Given the description of an element on the screen output the (x, y) to click on. 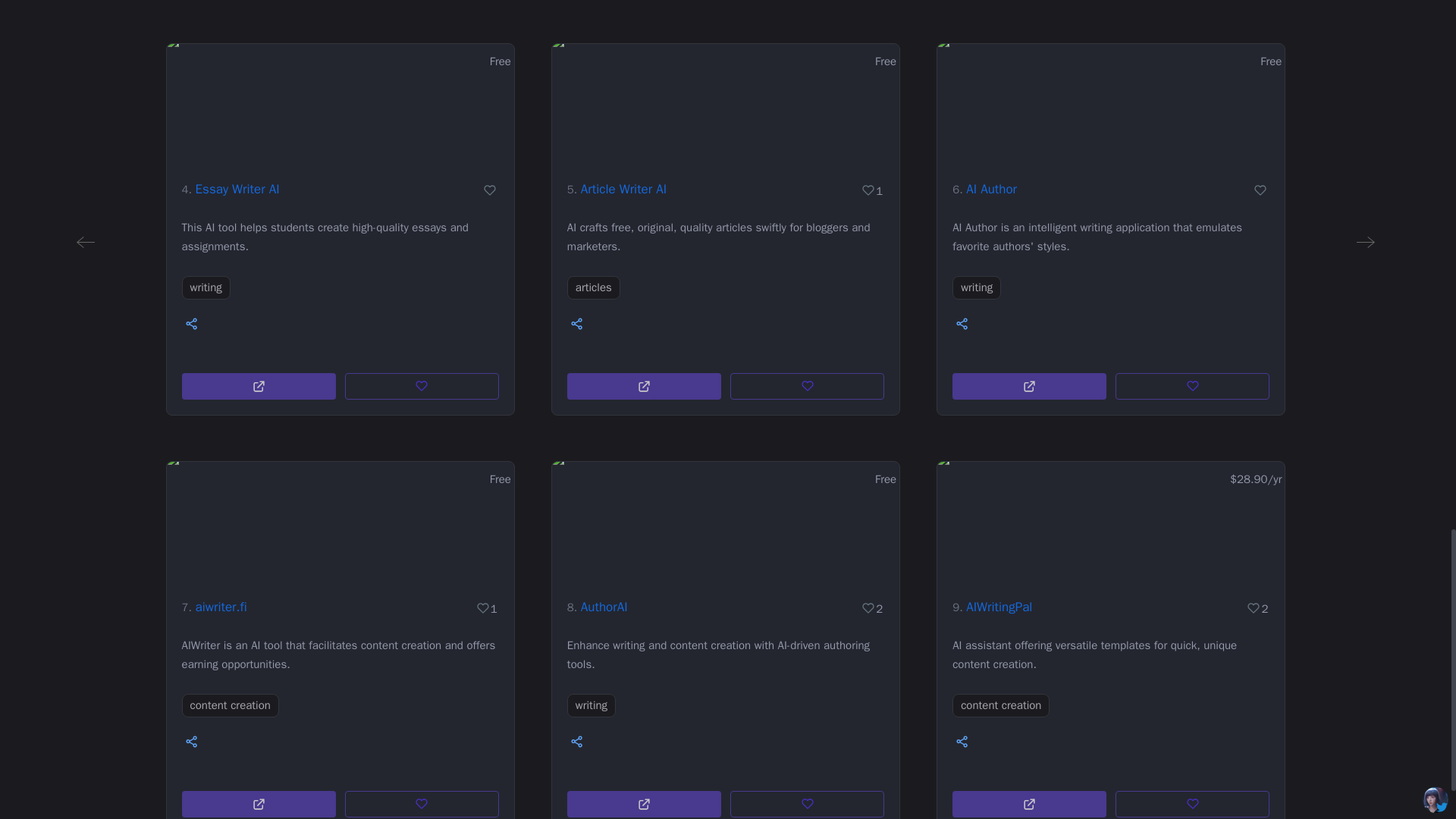
visit aiwriter.fi (259, 804)
Free (340, 101)
visit Article Writer AI (643, 386)
visit  AIWritingPal (1029, 804)
visit AI Author (1029, 386)
Essay Writer AI (237, 188)
Free (725, 101)
visit Essay Writer AI (259, 386)
Article Writer AI (623, 188)
visit AuthorAI (643, 804)
